Given the description of an element on the screen output the (x, y) to click on. 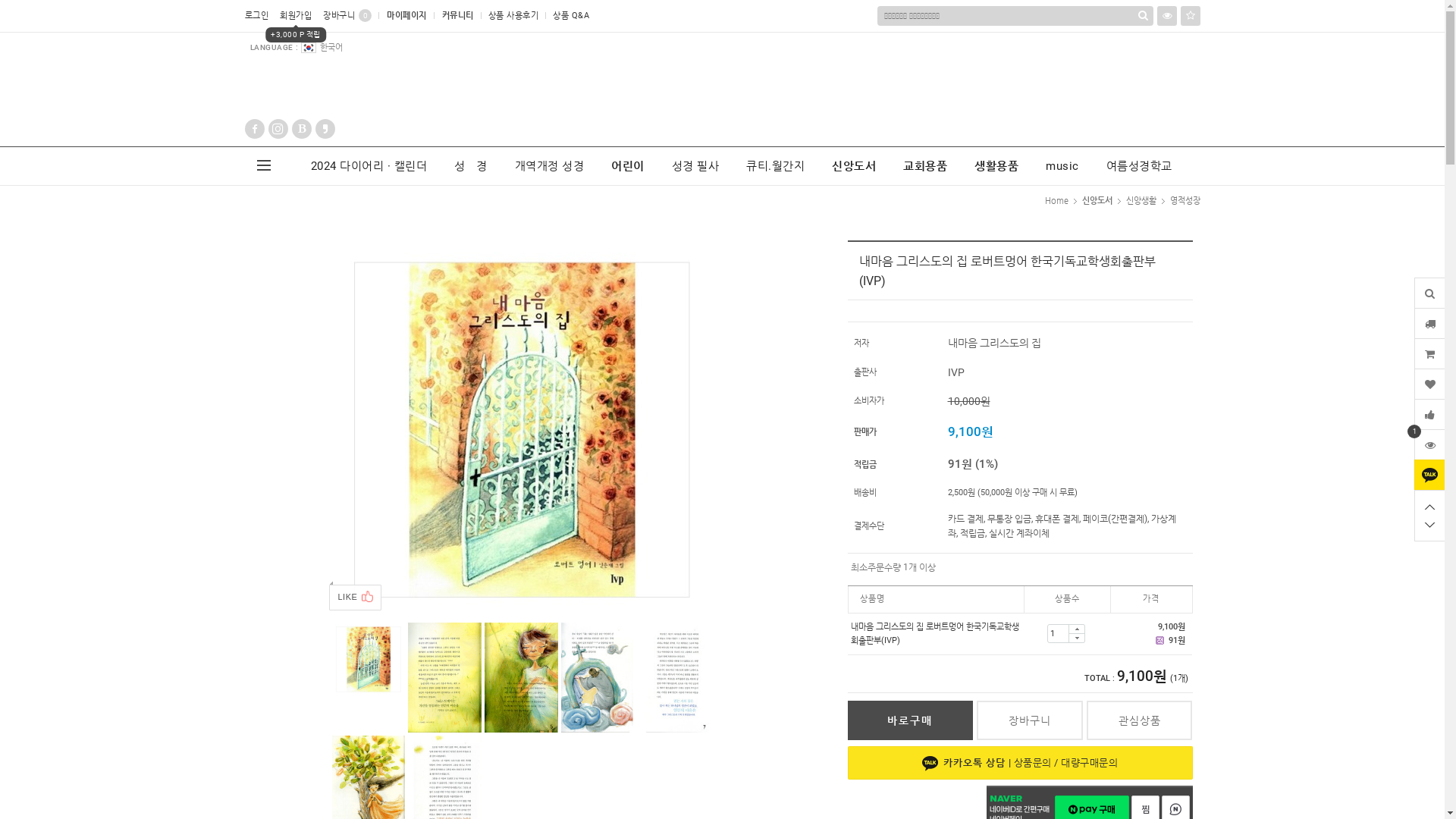
music Element type: text (1062, 166)
LIKE Element type: text (355, 596)
1 Element type: text (1429, 444)
Home Element type: text (1056, 200)
